Given the description of an element on the screen output the (x, y) to click on. 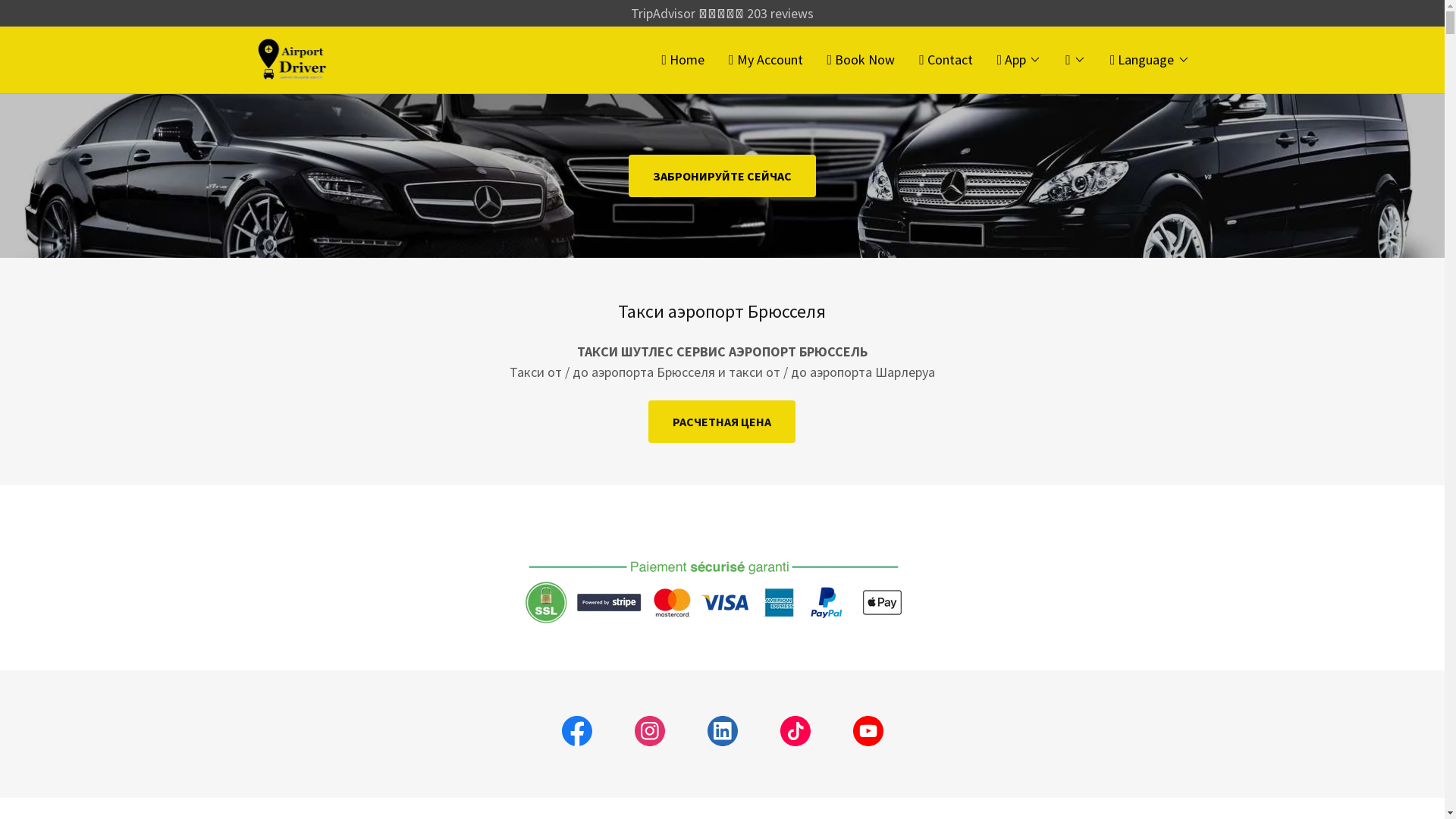
AIRPORT DRIVER  Element type: hover (294, 57)
